Given the description of an element on the screen output the (x, y) to click on. 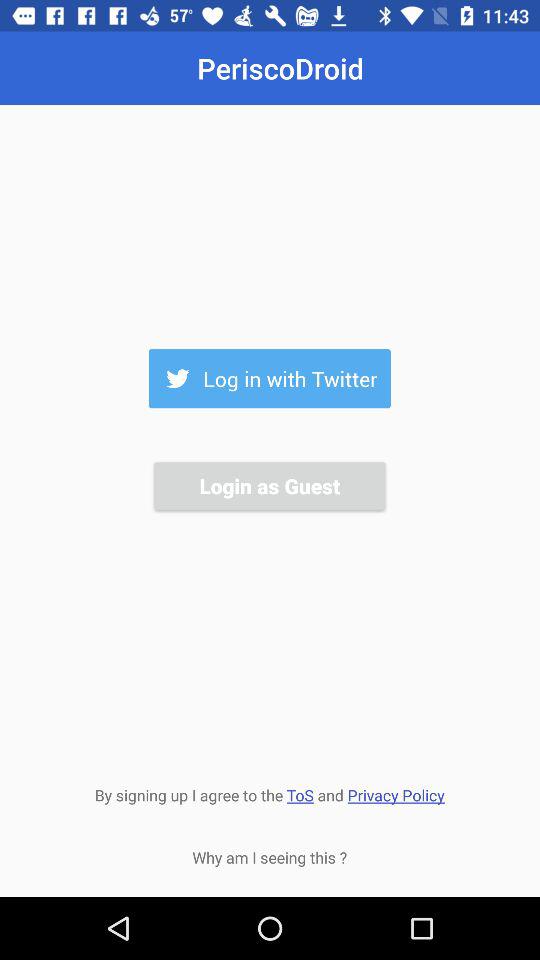
turn off icon above the by signing up (269, 485)
